Given the description of an element on the screen output the (x, y) to click on. 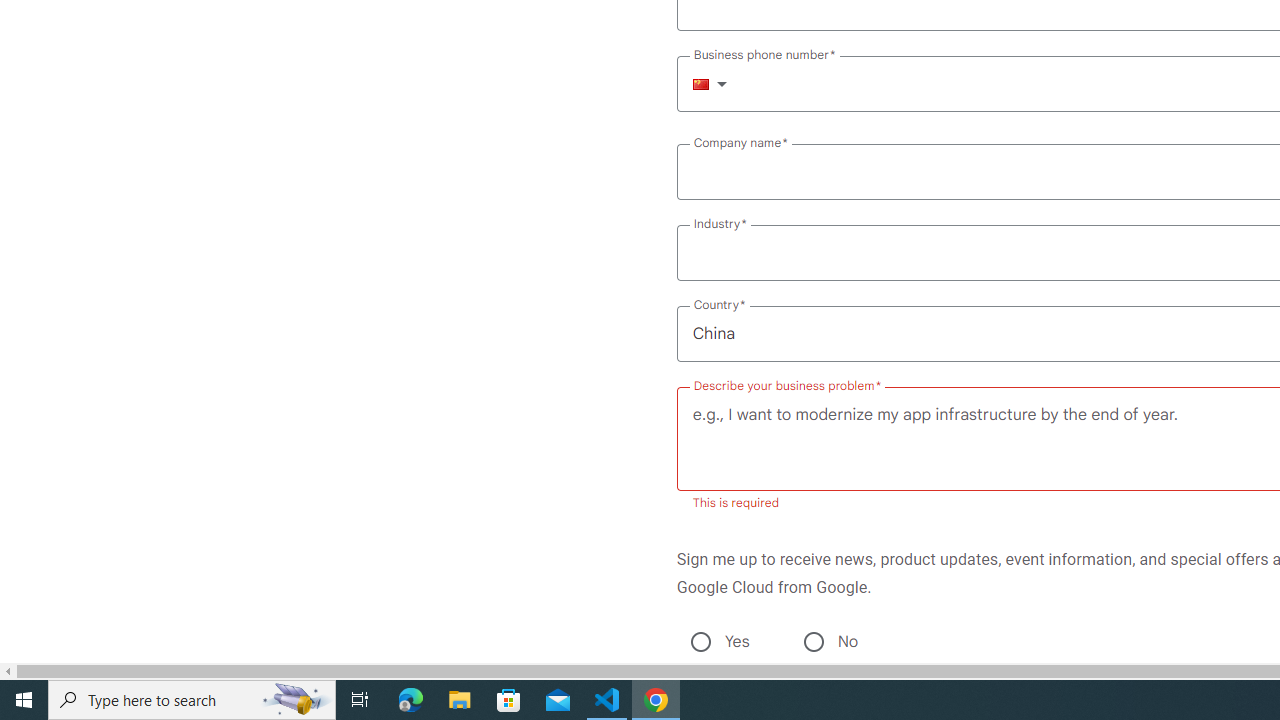
No (813, 641)
Yes (699, 641)
